Given the description of an element on the screen output the (x, y) to click on. 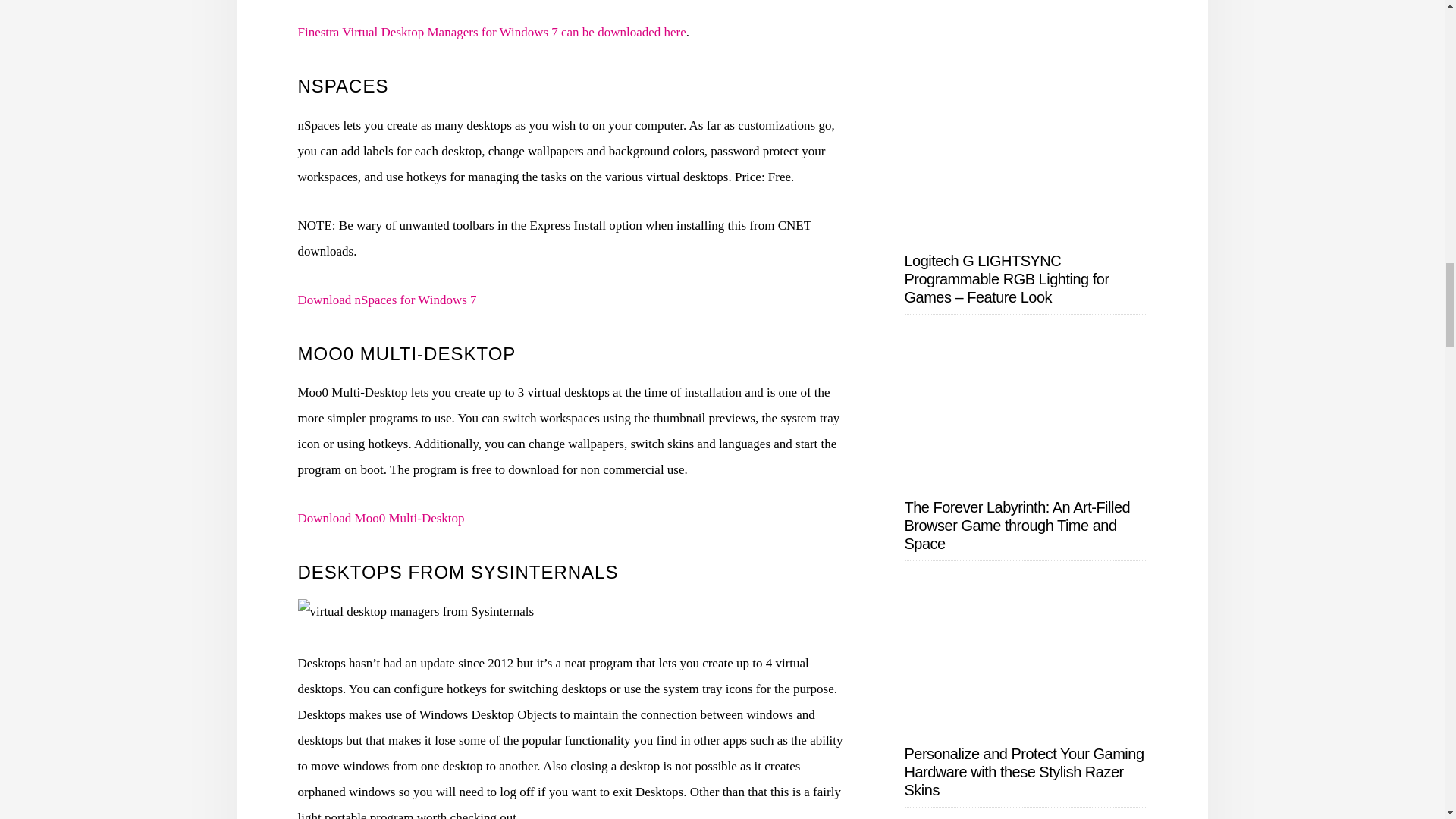
Download nSpaces for Windows 7 (386, 299)
Desktops from Sysinternals (415, 611)
Download Moo0 Multi-Desktop (380, 518)
